Given the description of an element on the screen output the (x, y) to click on. 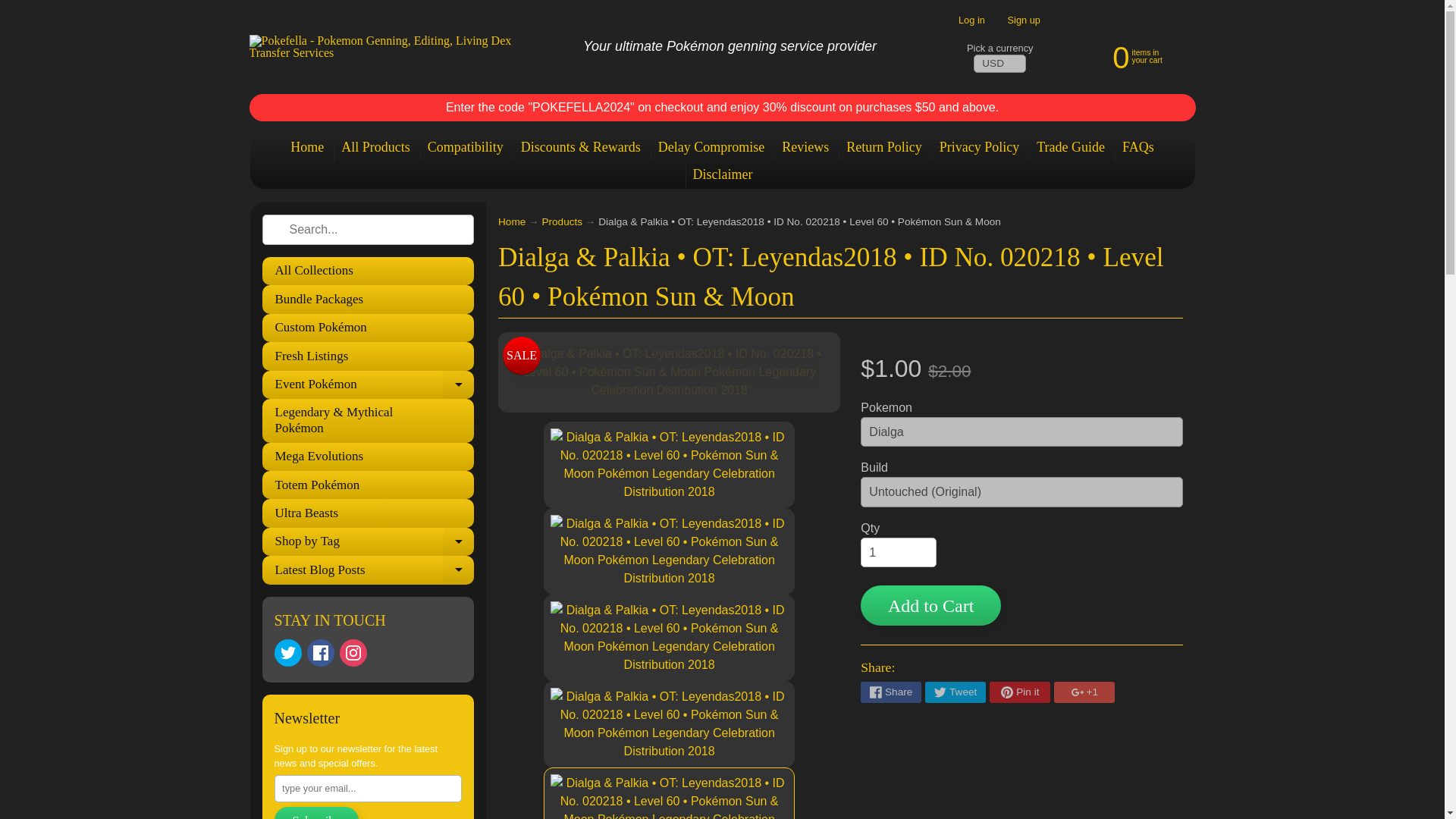
Twitter (288, 652)
All Collections (368, 271)
All Products (375, 147)
Reviews (804, 147)
Disclaimer (721, 175)
Sign up (1024, 20)
Privacy Policy (979, 147)
Compatibility (465, 147)
Trade Guide (1070, 147)
FAQs (1137, 147)
